Given the description of an element on the screen output the (x, y) to click on. 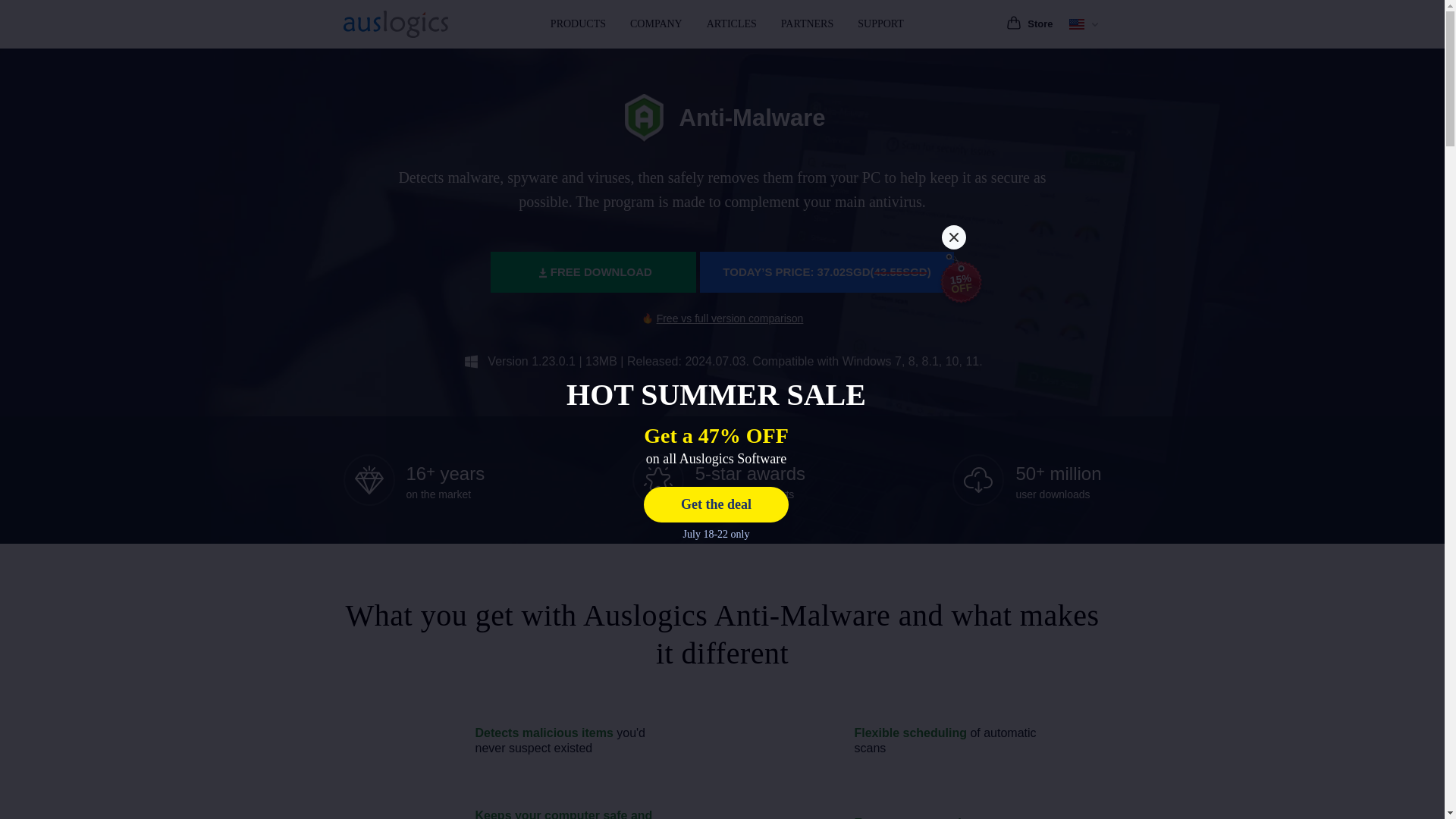
PRODUCTS (577, 24)
Auslogics - Science of Optimization (394, 23)
ARTICLES (731, 24)
COMPANY (655, 24)
